Given the description of an element on the screen output the (x, y) to click on. 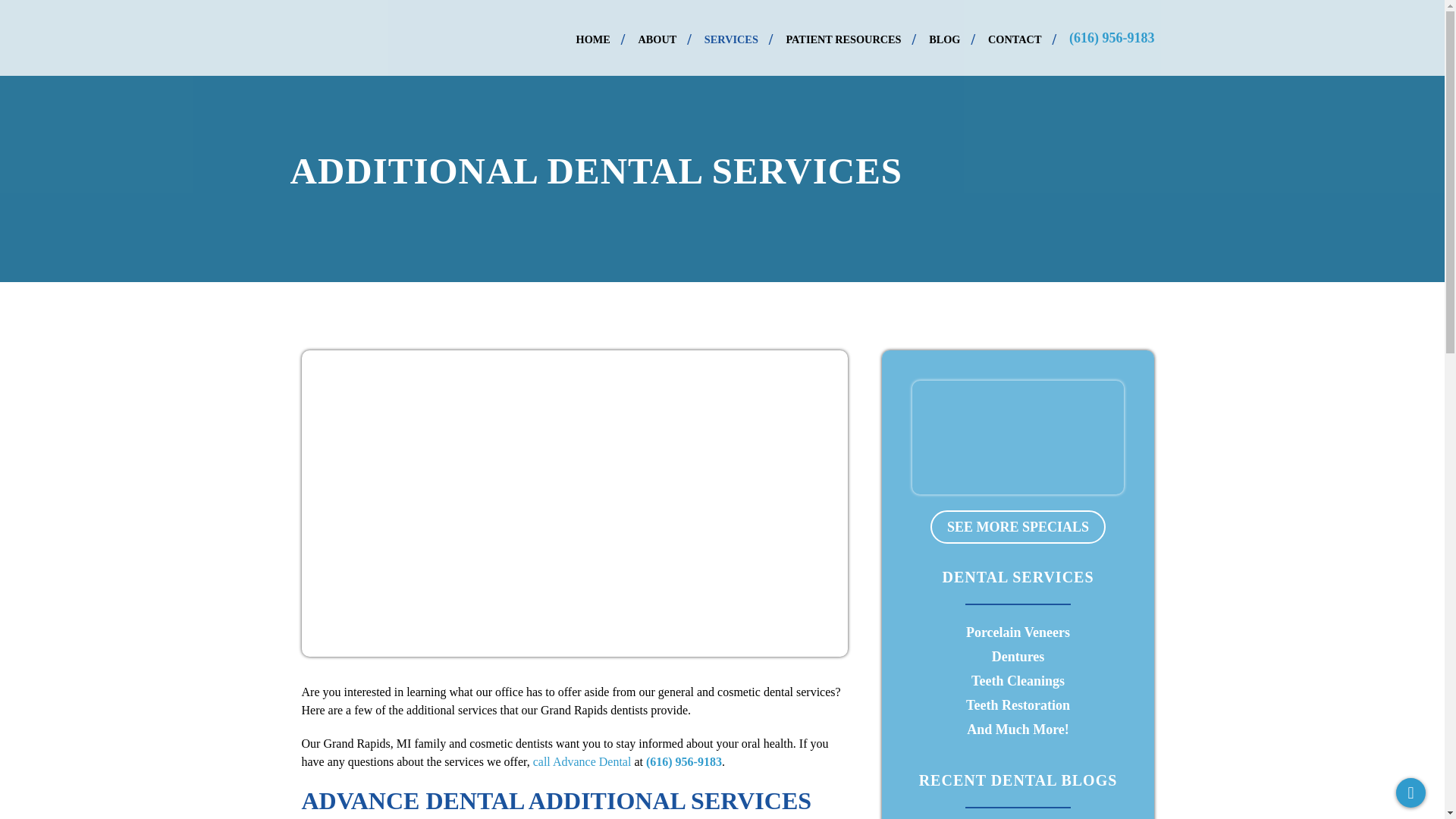
PATIENT RESOURCES (850, 38)
About (664, 38)
ABOUT (664, 38)
CONTACT (1021, 38)
SERVICES (739, 38)
HOME (600, 38)
Services (739, 38)
BLOG (952, 38)
